Given the description of an element on the screen output the (x, y) to click on. 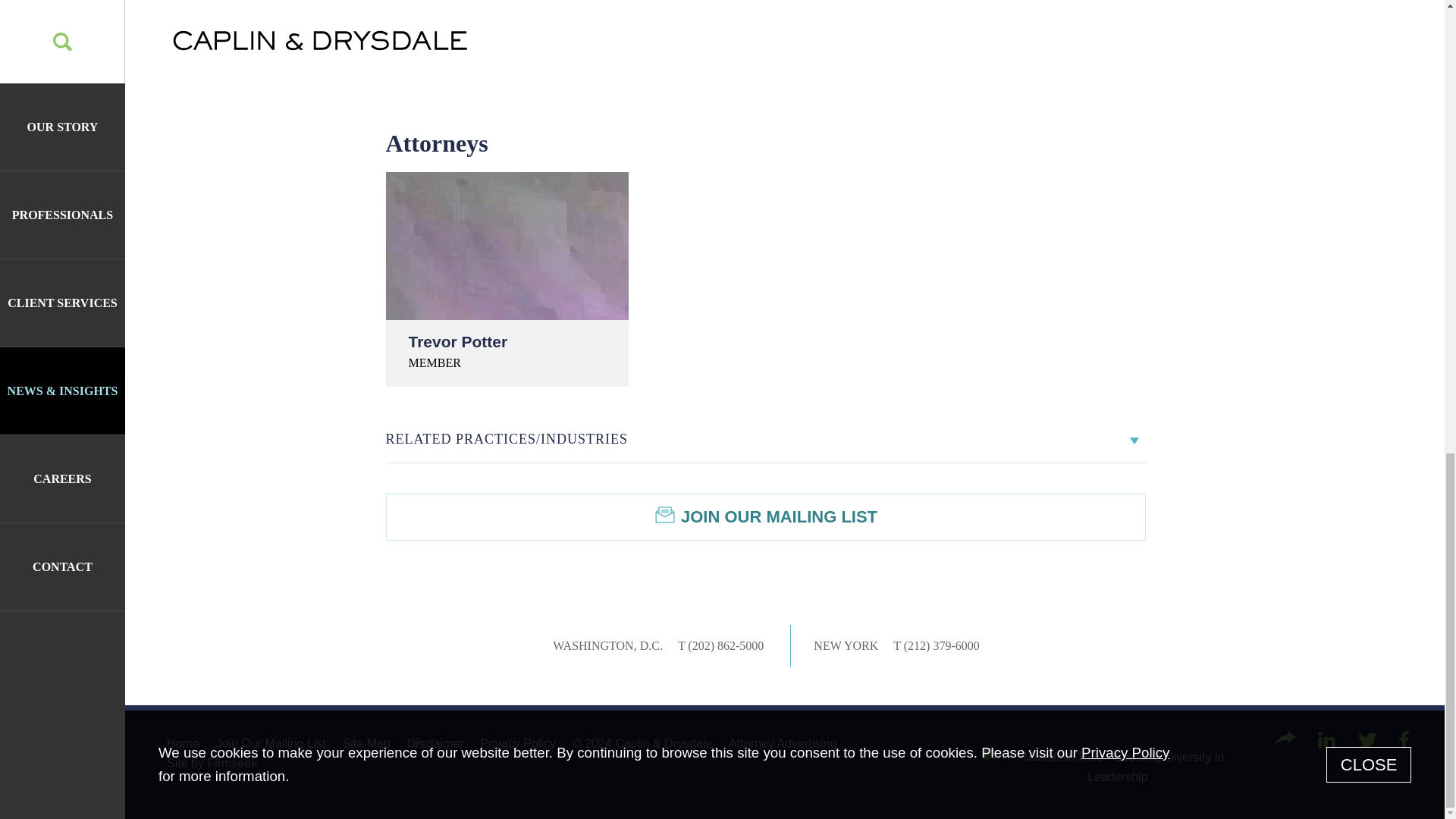
twitter Icon (1367, 739)
Share (1285, 737)
linkedin Icon (1326, 740)
